Given the description of an element on the screen output the (x, y) to click on. 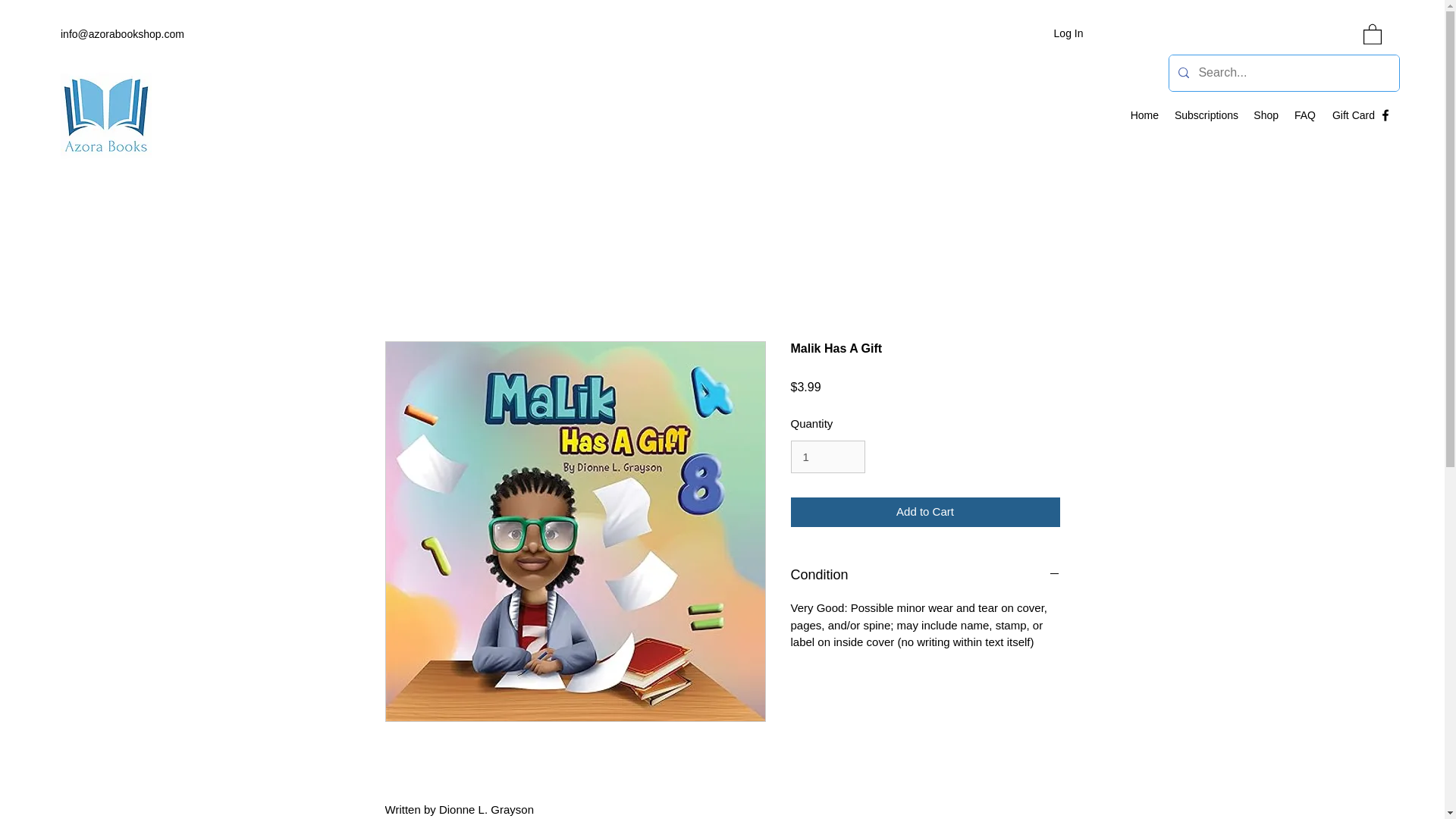
Add to Cart (924, 512)
1 (827, 457)
Gift Card (1352, 115)
Condition (924, 575)
Subscriptions (1206, 115)
Shop (1265, 115)
Home (1144, 115)
Log In (1068, 33)
FAQ (1304, 115)
